Given the description of an element on the screen output the (x, y) to click on. 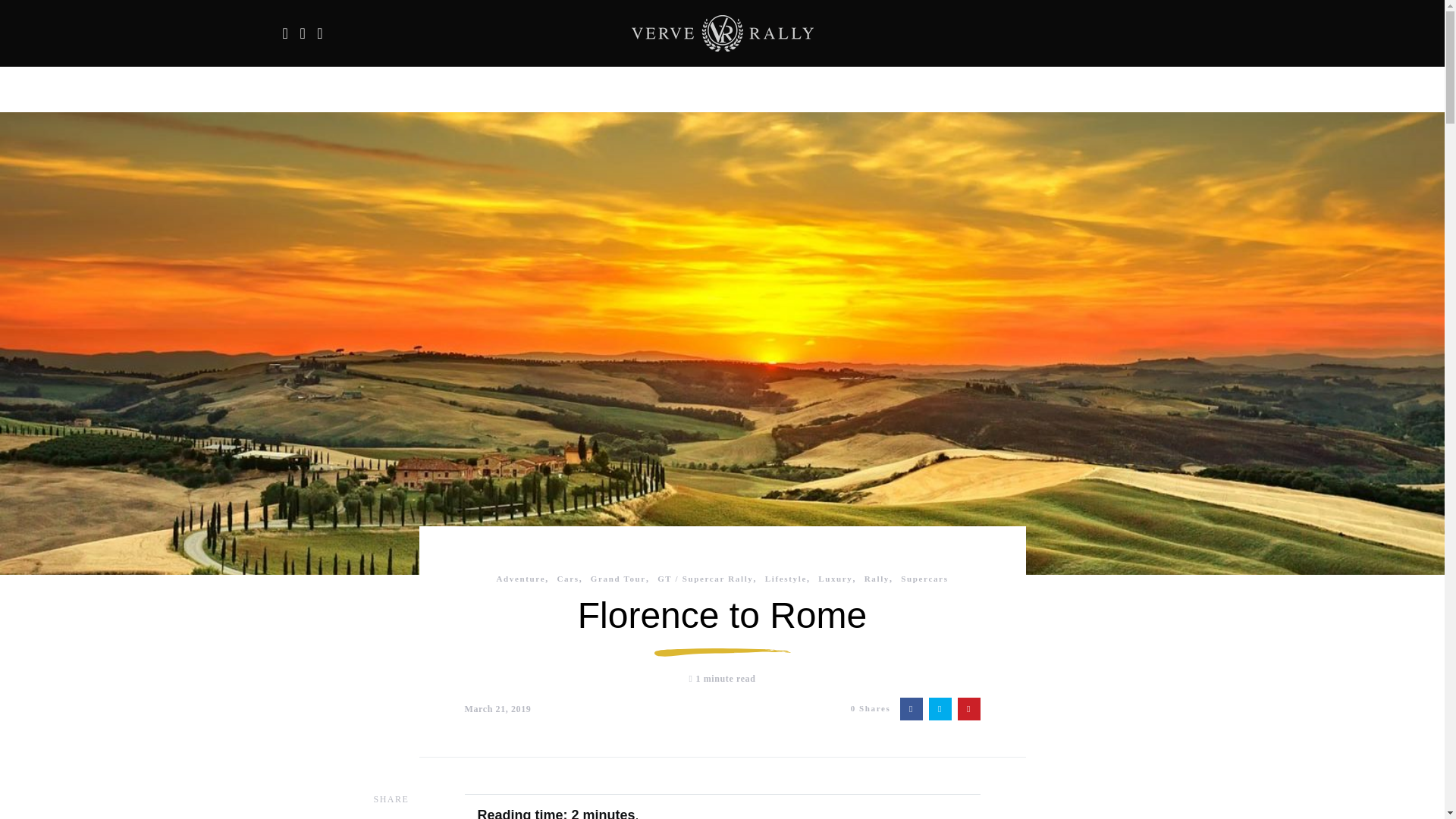
Cars (567, 578)
Adventure (520, 578)
Grand Tour (618, 578)
Rally (876, 578)
Supercars (924, 578)
Luxury (834, 578)
Lifestyle (785, 578)
